Given the description of an element on the screen output the (x, y) to click on. 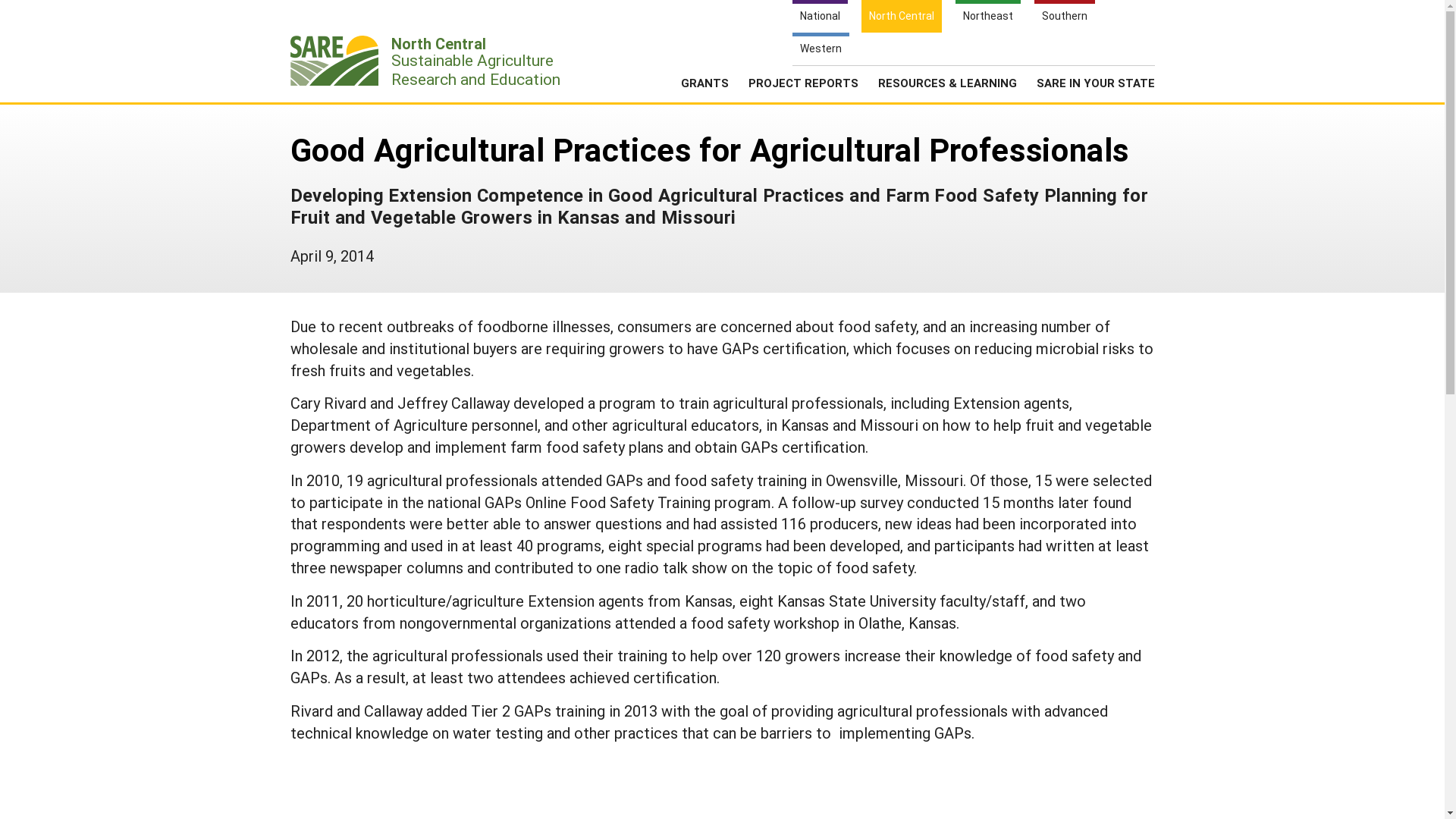
GRANTS (705, 88)
About Us (1074, 60)
Western (820, 48)
Southern (1063, 16)
North Central (901, 16)
PROJECT REPORTS (429, 62)
Northeast (802, 88)
Newsroom (987, 16)
National (995, 60)
